Given the description of an element on the screen output the (x, y) to click on. 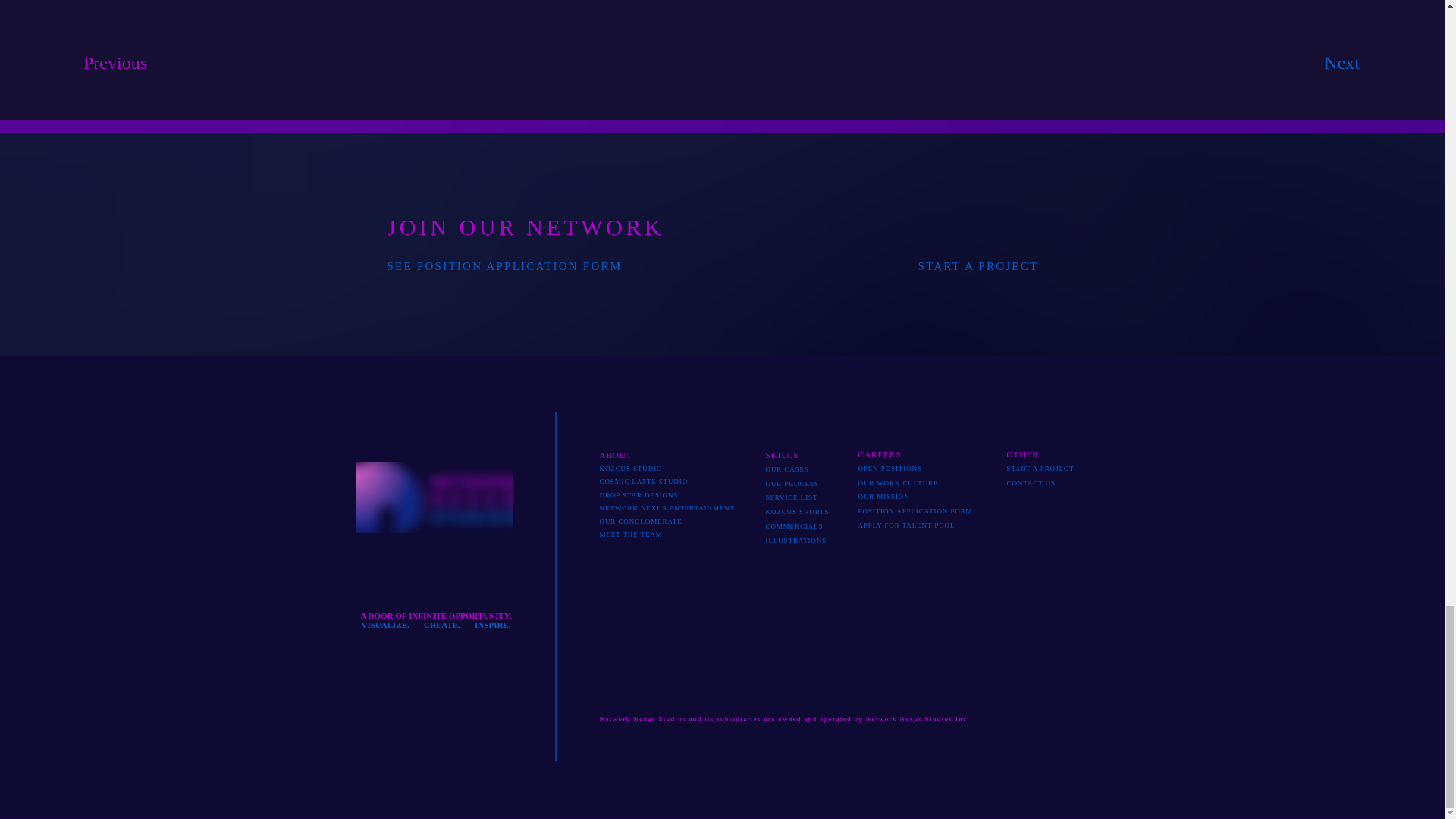
SERVICE LIST (791, 497)
Previous (111, 63)
OUR PROCESS (791, 483)
NETWORK NEXUS ENTERTAINMENT (666, 507)
Next (1349, 63)
OUR CASES (787, 469)
DROP STAR DESIGNS (638, 493)
START A PROJECT (977, 265)
KOZCUS STUDIO (630, 468)
OUR CONGLOMERATE (639, 521)
